Given the description of an element on the screen output the (x, y) to click on. 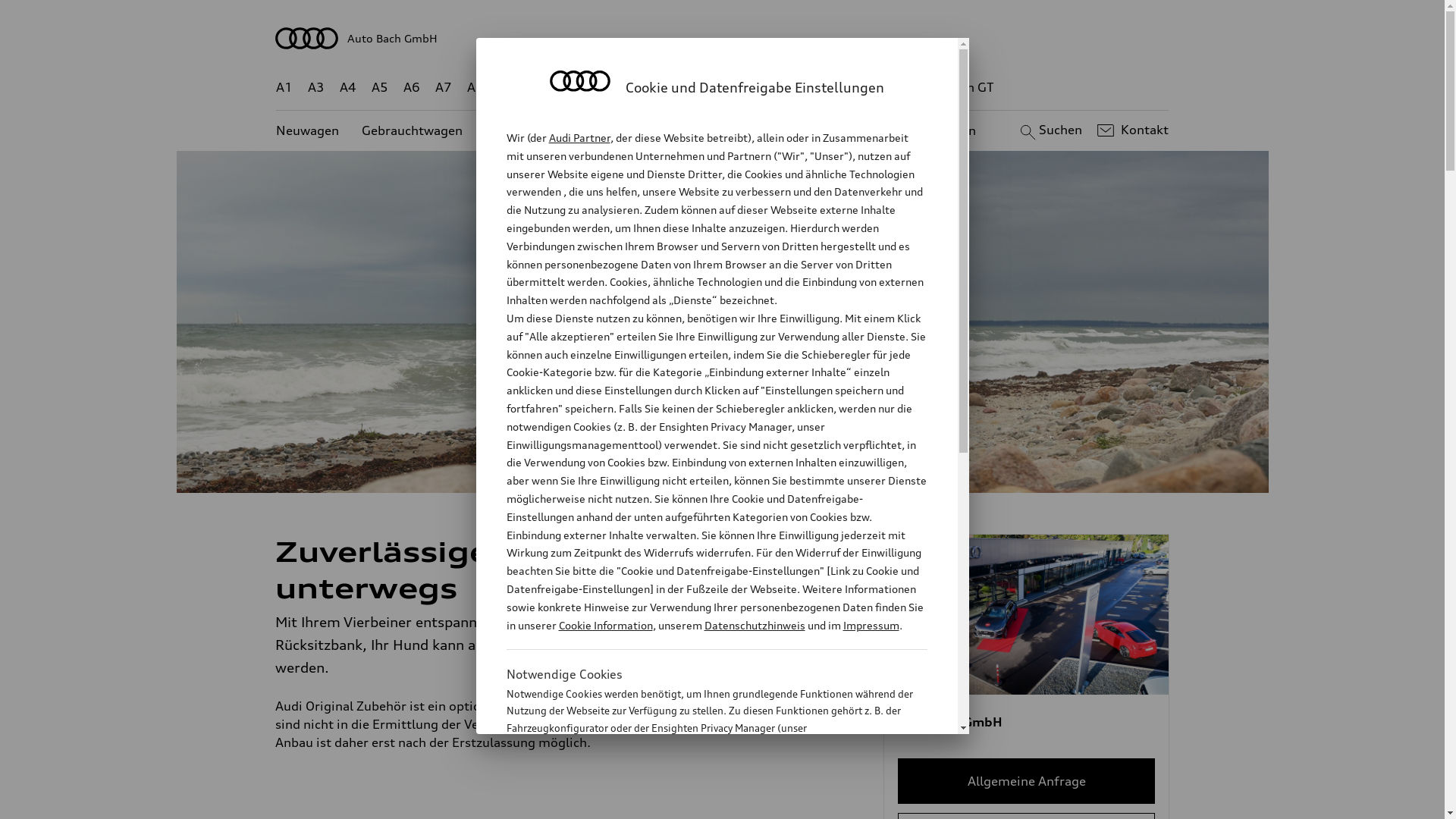
Audi Partner Element type: text (579, 137)
A1 Element type: text (284, 87)
A7 Element type: text (443, 87)
Neuwagen Element type: text (307, 130)
A8 Element type: text (475, 87)
Q8 e-tron Element type: text (763, 87)
A6 Element type: text (411, 87)
Suchen Element type: text (1049, 130)
TT Element type: text (814, 87)
Q4 e-tron Element type: text (592, 87)
e-tron GT Element type: text (965, 87)
Q8 Element type: text (710, 87)
RS Element type: text (861, 87)
Kundenservice Element type: text (730, 130)
Datenschutzhinweis Element type: text (753, 624)
g-tron Element type: text (903, 87)
Q5 Element type: text (645, 87)
Allgemeine Anfrage Element type: text (1025, 780)
Q3 Element type: text (540, 87)
Kontakt Element type: text (1130, 130)
Cookie Information Element type: text (605, 624)
Gebrauchtwagen Element type: text (411, 130)
Angebote Element type: text (636, 130)
A4 Element type: text (347, 87)
A3 Element type: text (315, 87)
Q7 Element type: text (678, 87)
Auto Bach GmbH Element type: text (722, 38)
Impressum Element type: text (871, 624)
Cookie Information Element type: text (700, 802)
A5 Element type: text (379, 87)
Q2 Element type: text (507, 87)
